Given the description of an element on the screen output the (x, y) to click on. 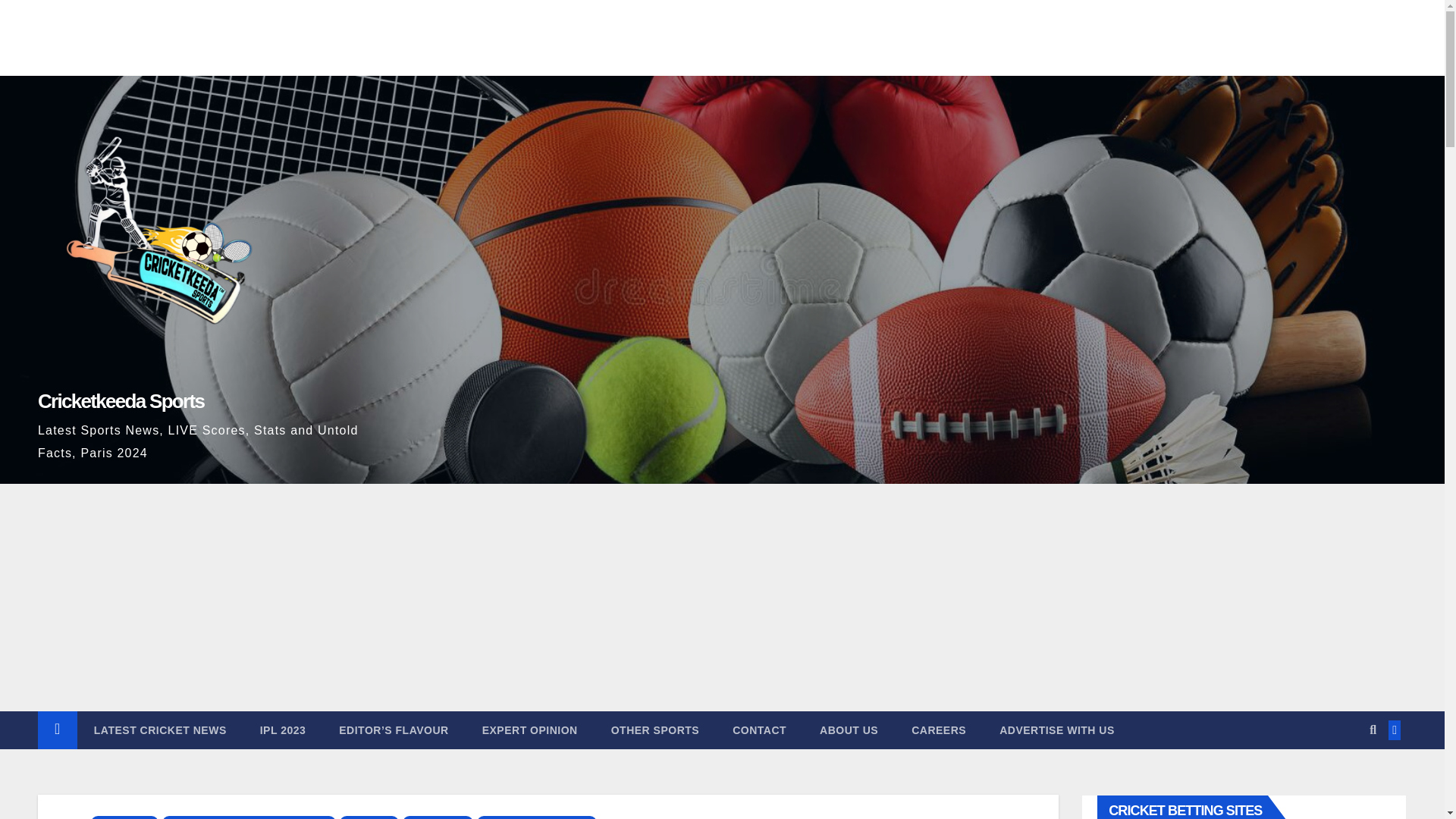
Editor's Flavour (392, 730)
ADVERTISE WITH US (1056, 730)
CRICKET NEWS (124, 817)
Contact (759, 730)
Expert Opinion (529, 730)
About US (849, 730)
OTHER SPORTS (655, 730)
Cricketkeeda Sports (120, 400)
IPL 2023 (283, 730)
ABOUT US (849, 730)
IPL 2023 (283, 730)
Careers (938, 730)
INTERNATIONAL (438, 817)
Advertise With Us (1056, 730)
